Given the description of an element on the screen output the (x, y) to click on. 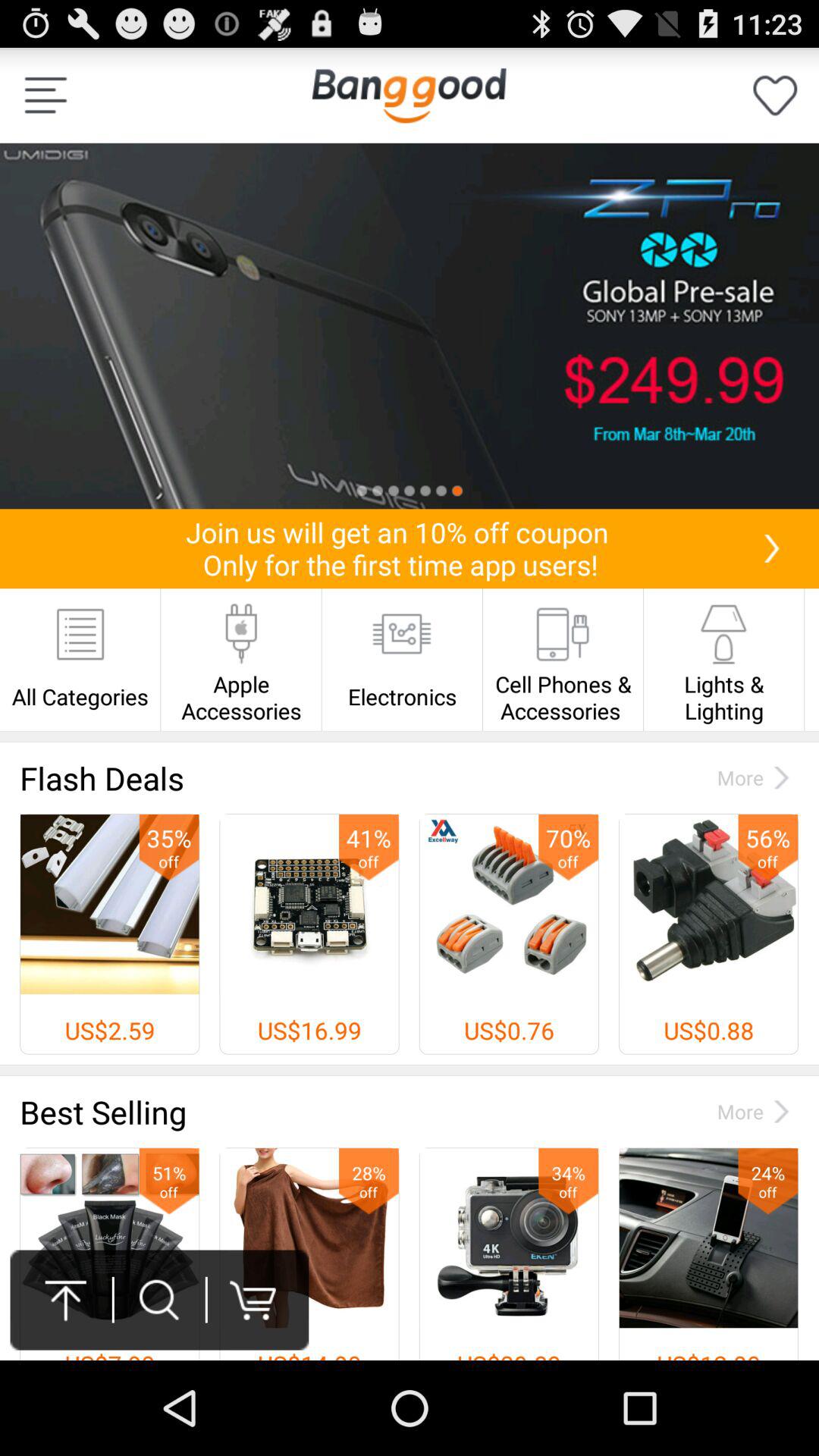
view a website (409, 95)
